Given the description of an element on the screen output the (x, y) to click on. 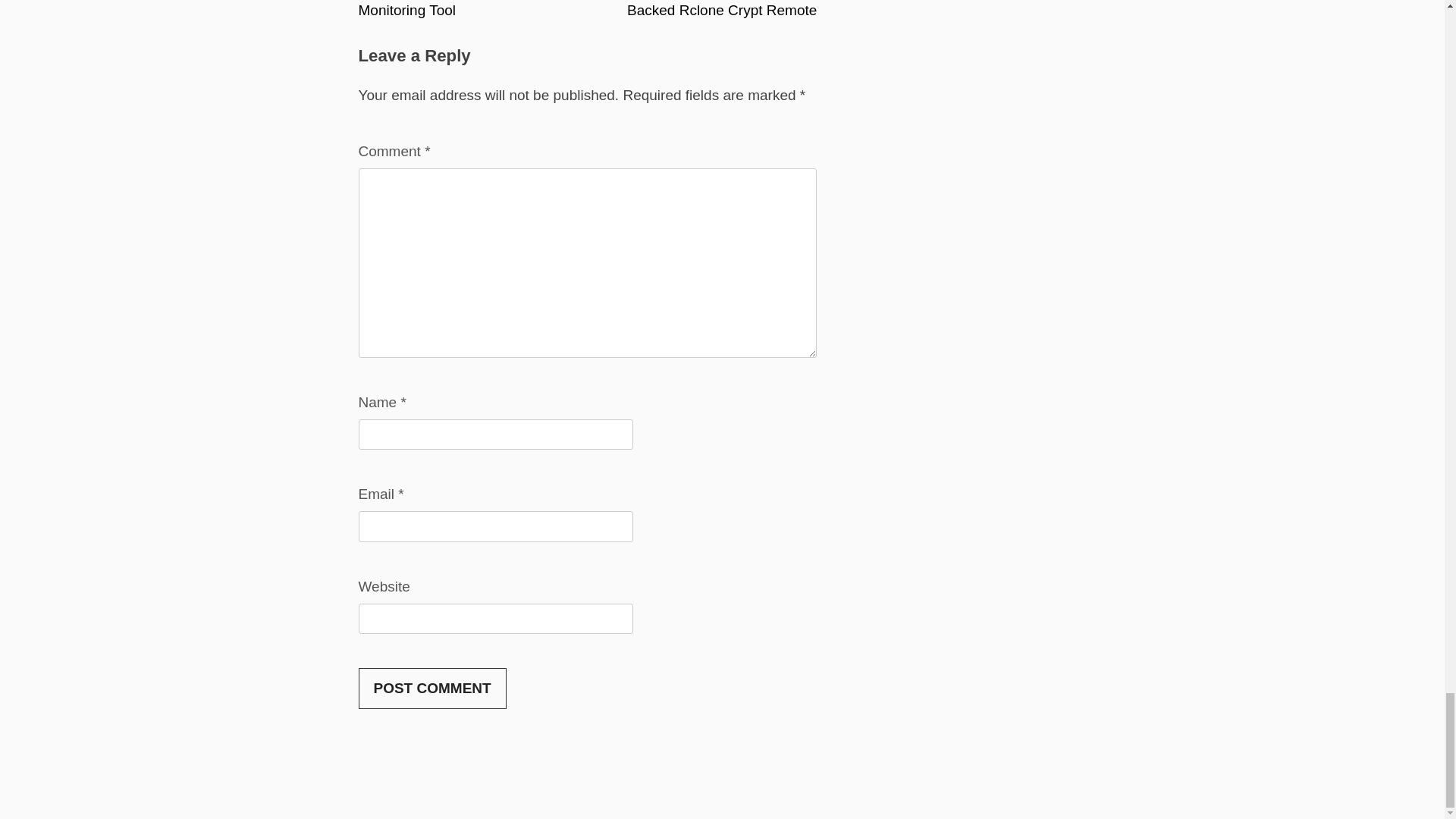
Post Comment (431, 688)
Post Comment (431, 688)
